Given the description of an element on the screen output the (x, y) to click on. 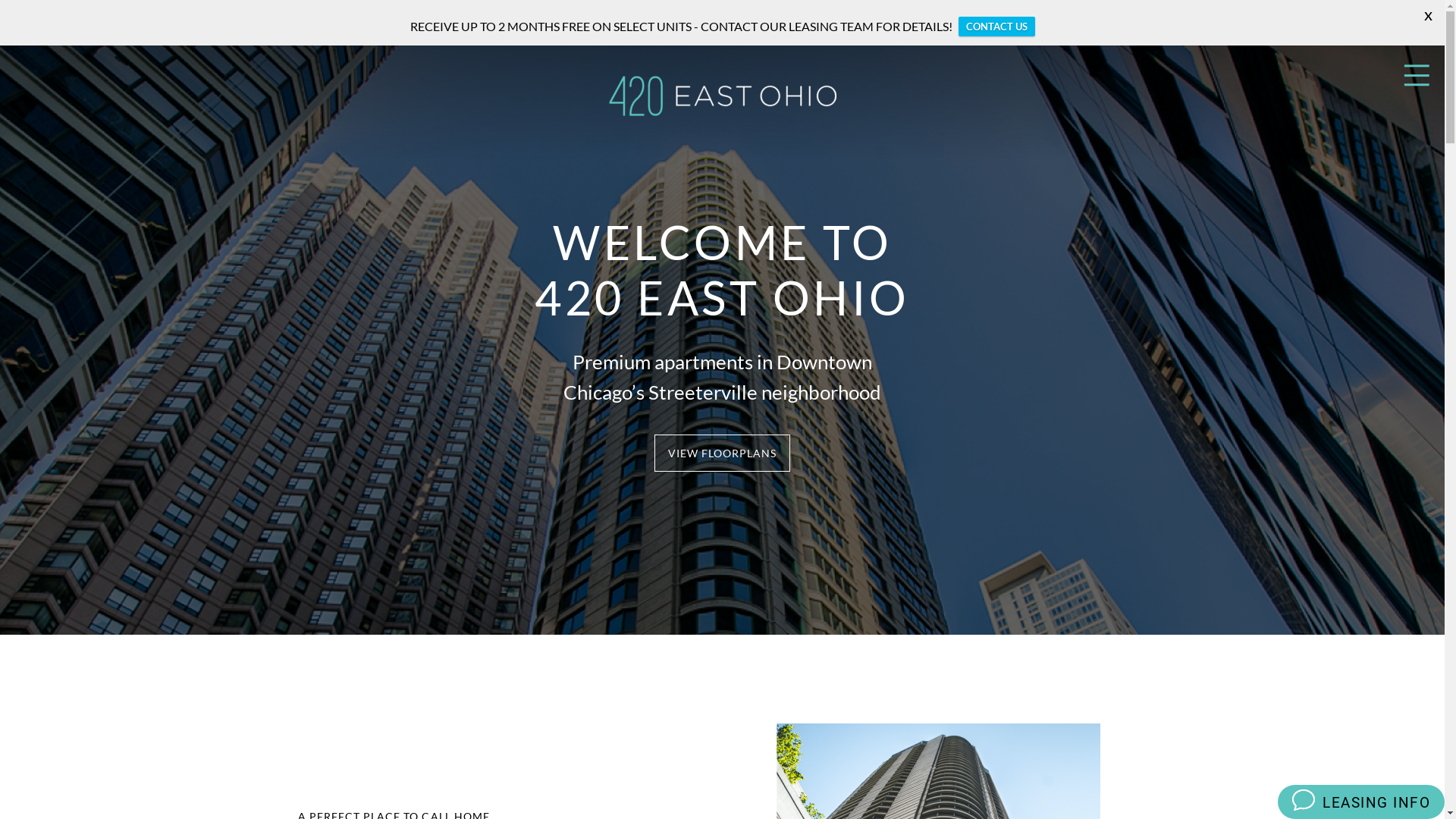
VIEW FLOORPLANS Element type: text (722, 452)
LEASING INFO Element type: text (1372, 801)
CONTACT US Element type: text (996, 26)
